Given the description of an element on the screen output the (x, y) to click on. 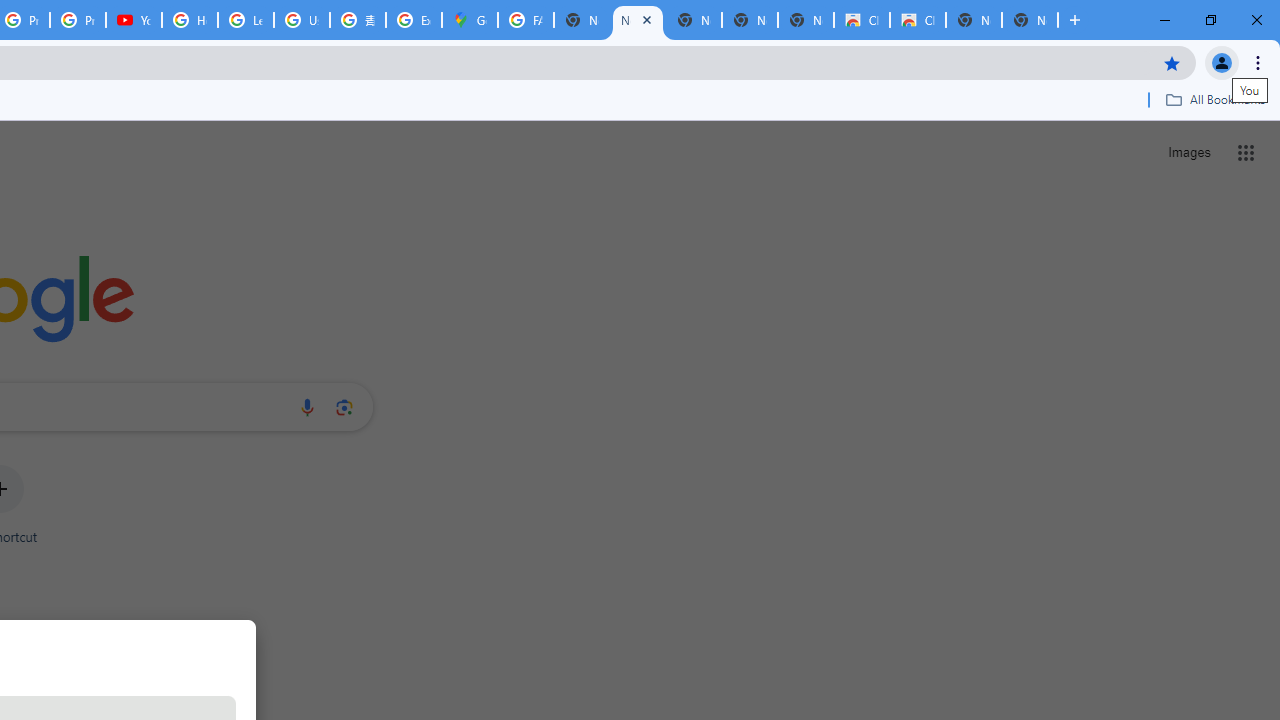
New Tab (1030, 20)
Google Maps (469, 20)
Privacy Checkup (77, 20)
Explore new street-level details - Google Maps Help (413, 20)
Classic Blue - Chrome Web Store (861, 20)
